Given the description of an element on the screen output the (x, y) to click on. 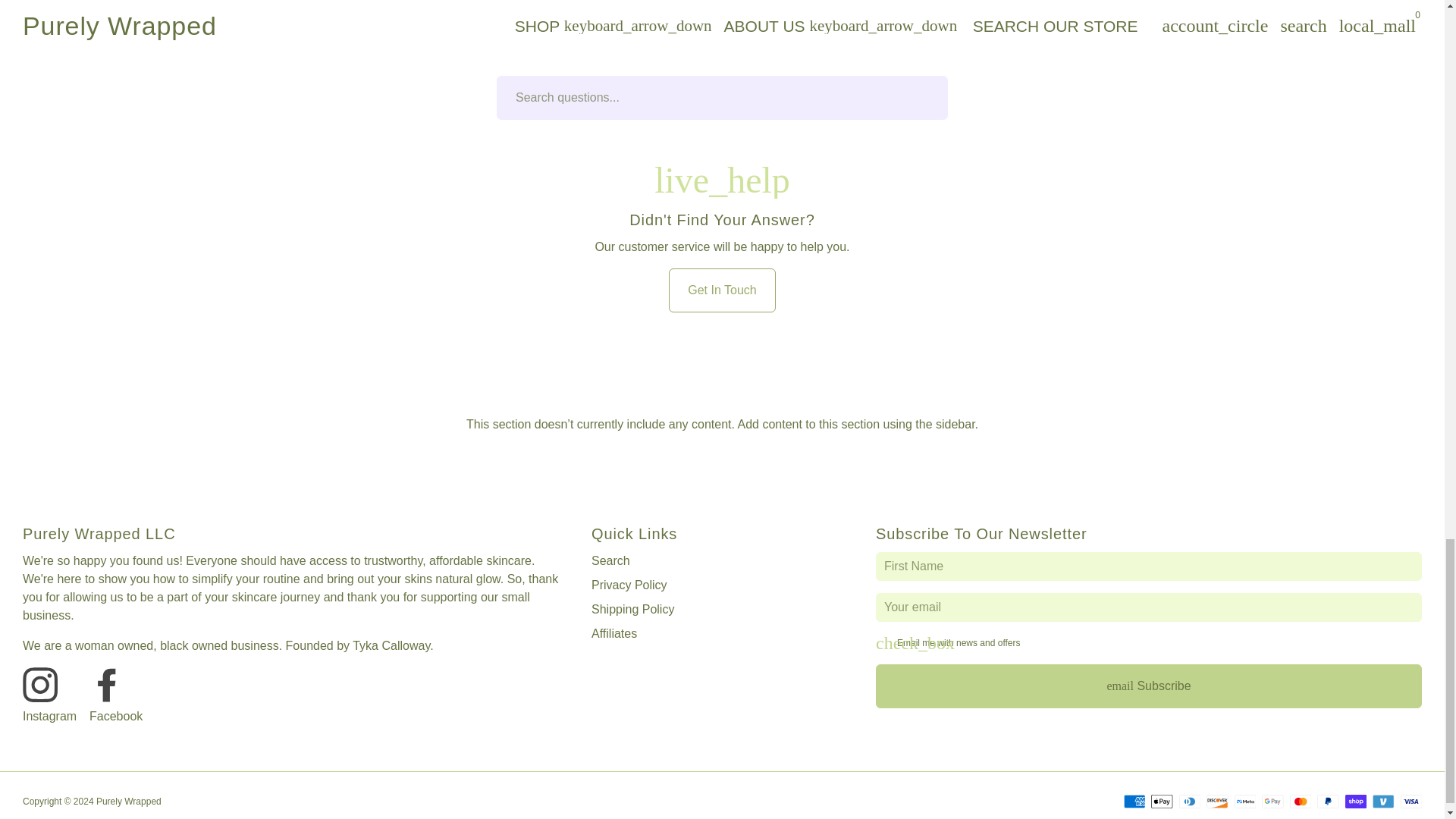
Diners Club (1188, 801)
American Express (1134, 801)
Discover (1217, 801)
Apple Pay (1161, 801)
Meta Pay (1245, 801)
